Given the description of an element on the screen output the (x, y) to click on. 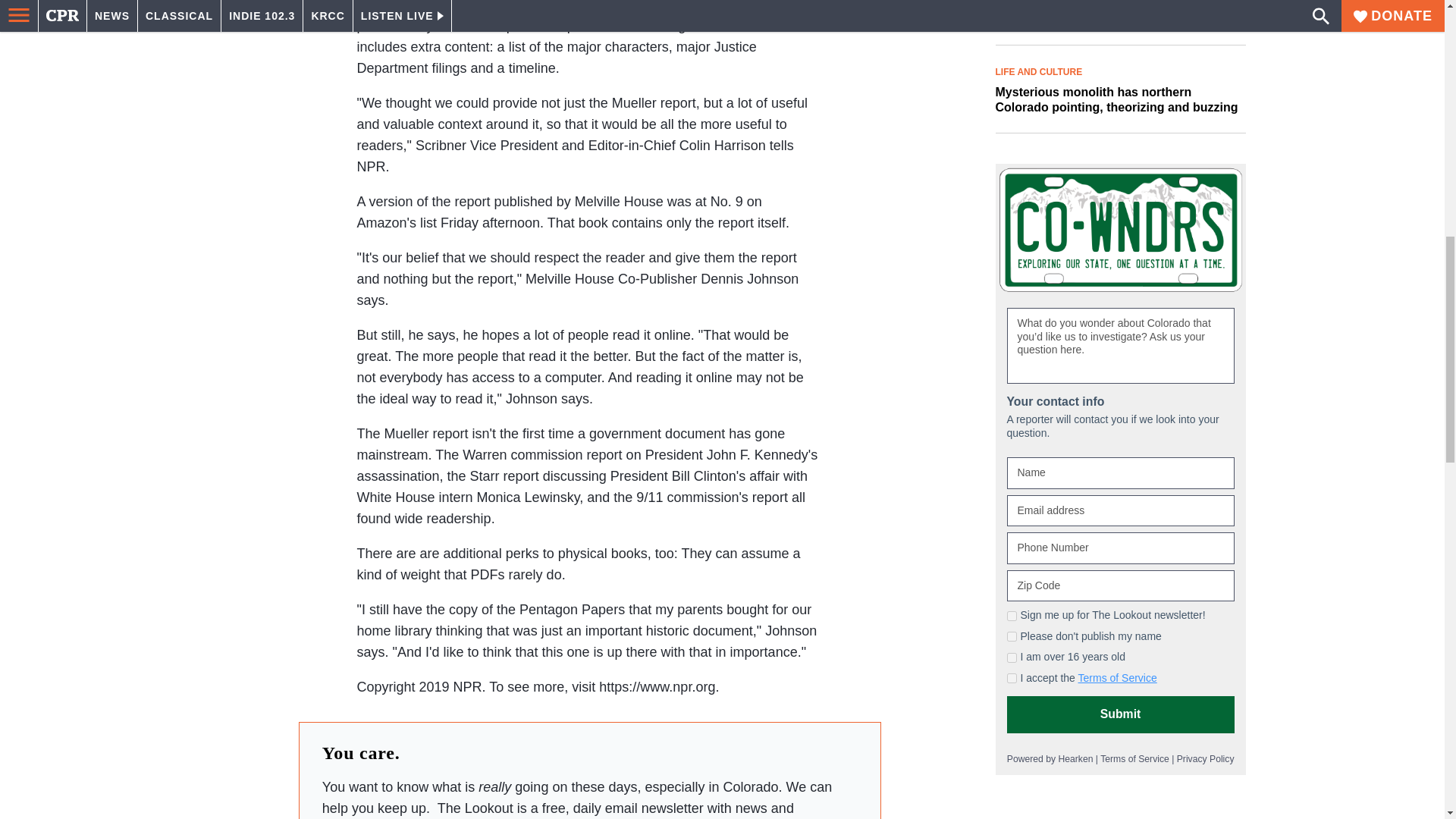
on (1011, 615)
on (1011, 678)
on (1011, 657)
on (1011, 636)
